Given the description of an element on the screen output the (x, y) to click on. 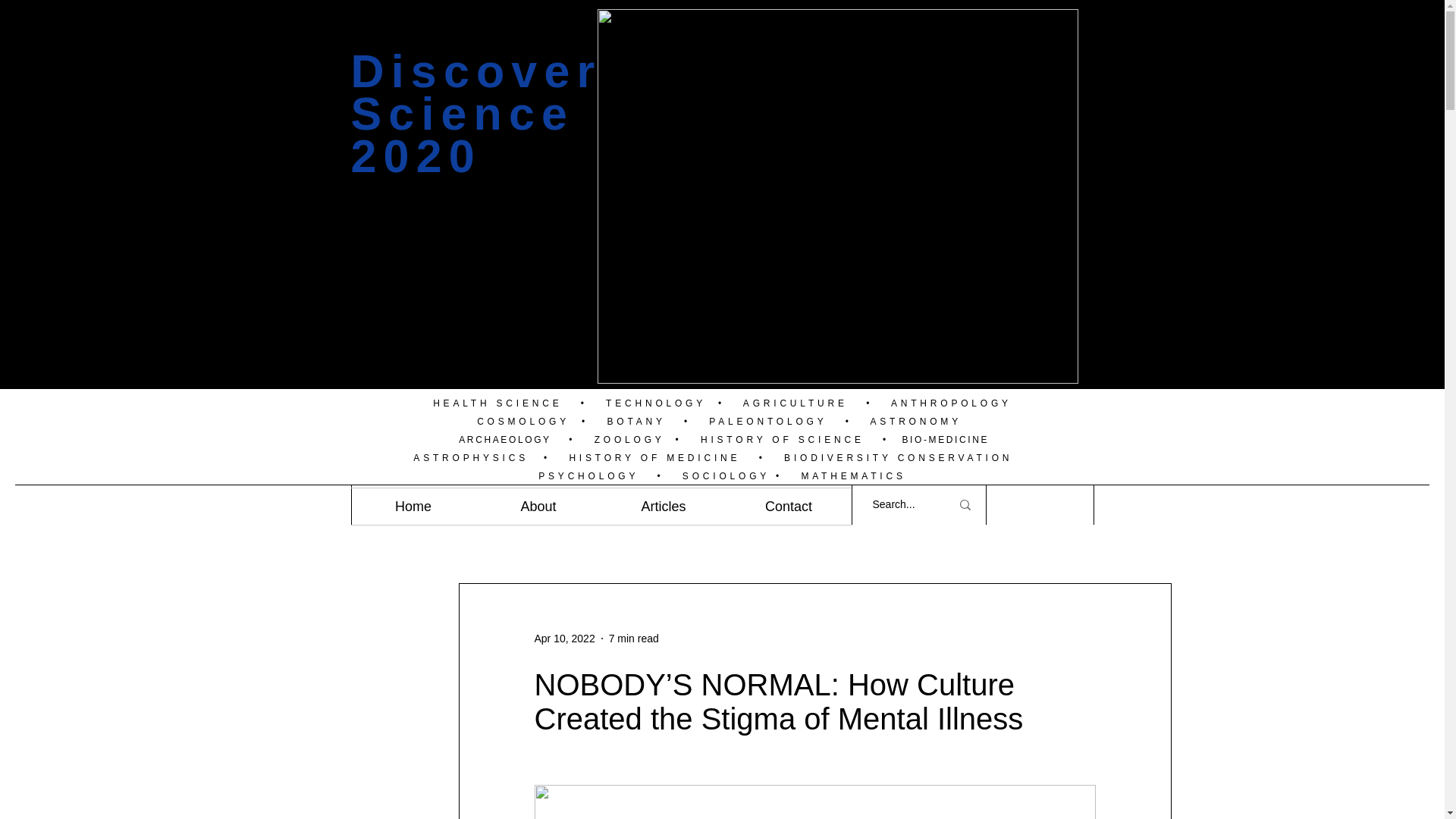
About (538, 506)
Contact (788, 506)
Articles (662, 506)
Home (413, 506)
7 min read (633, 638)
Apr 10, 2022 (564, 638)
